Given the description of an element on the screen output the (x, y) to click on. 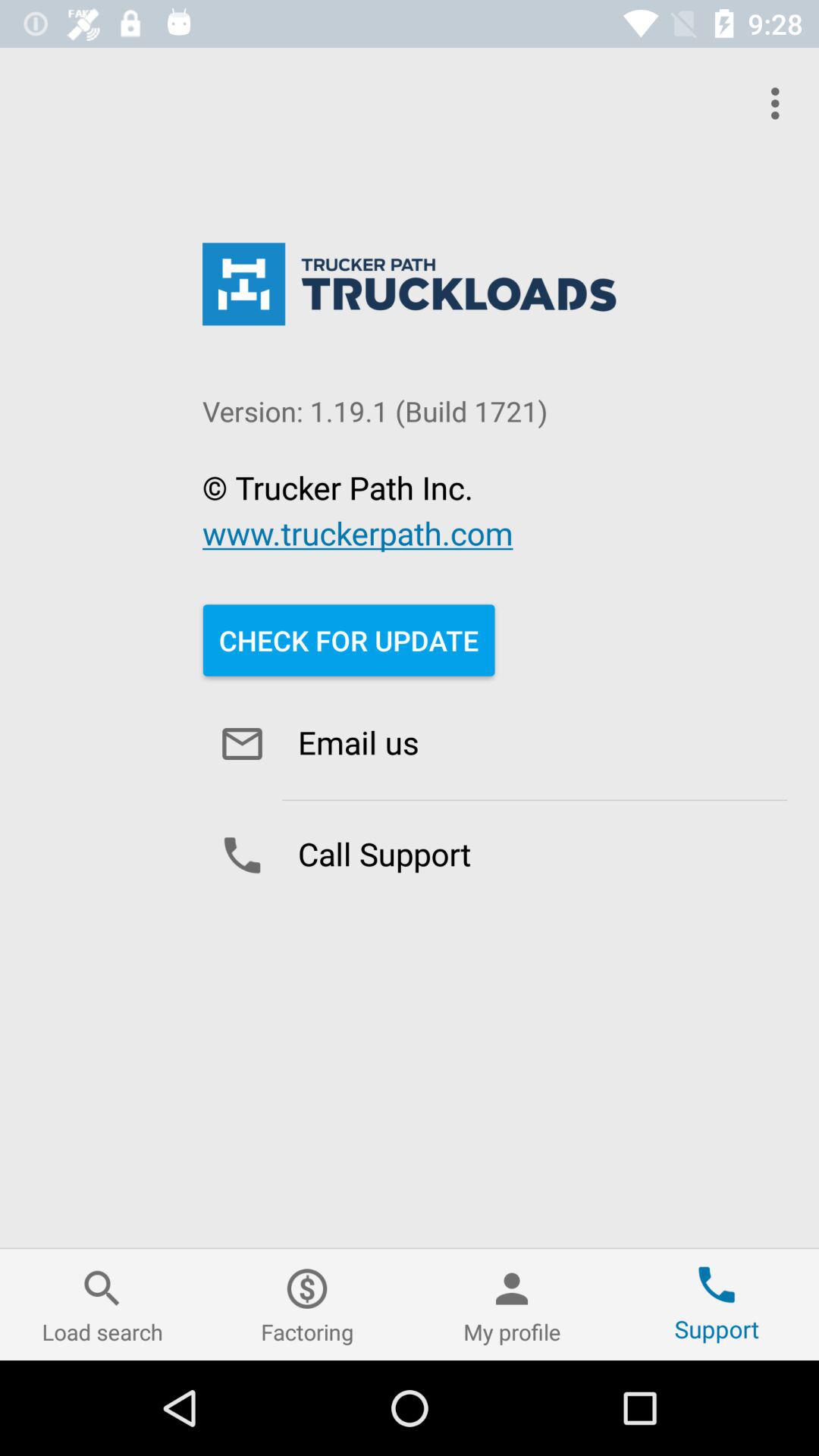
press the my profile icon (511, 1304)
